Given the description of an element on the screen output the (x, y) to click on. 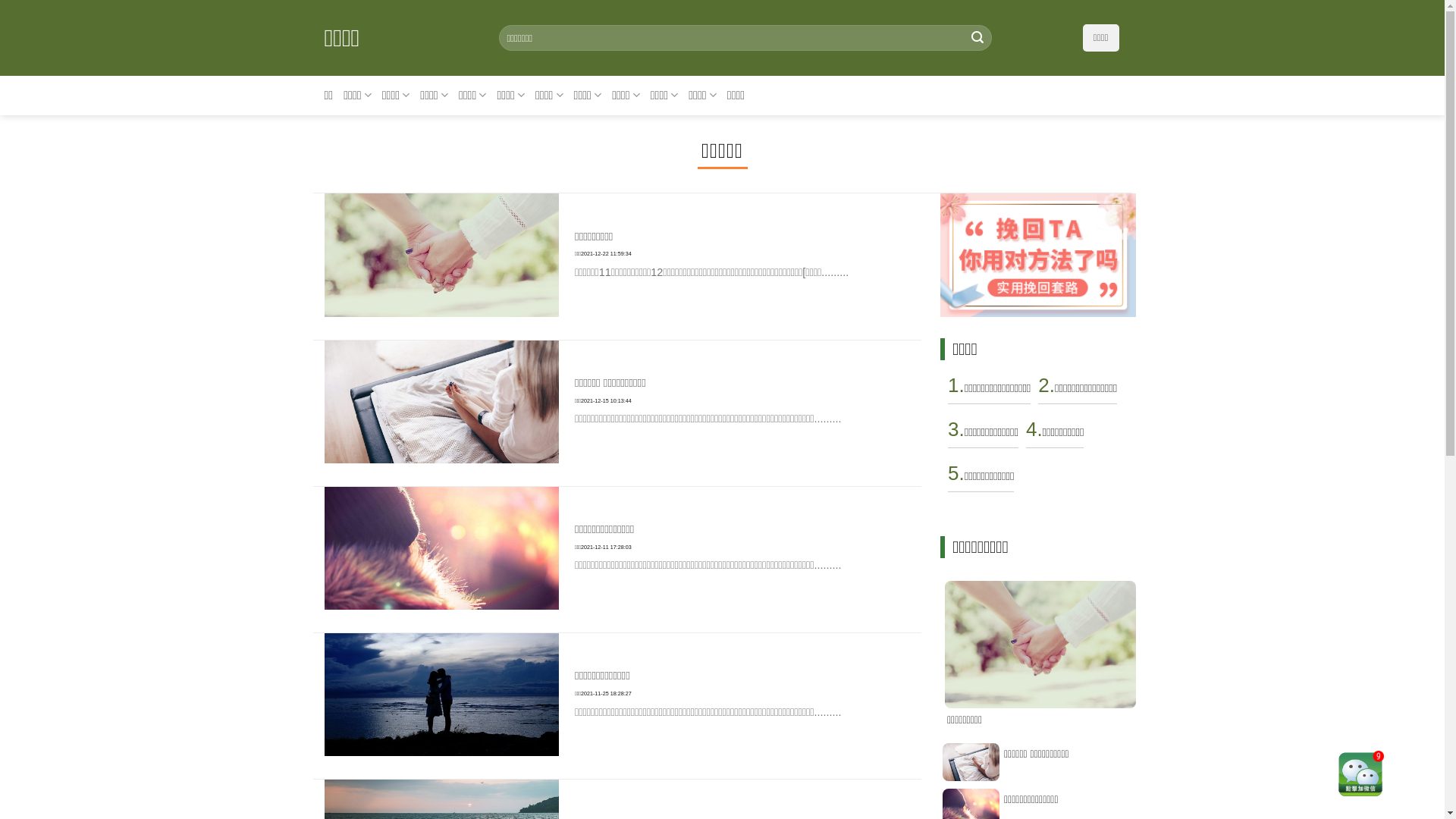
Skip to content Element type: text (0, 0)
